Given the description of an element on the screen output the (x, y) to click on. 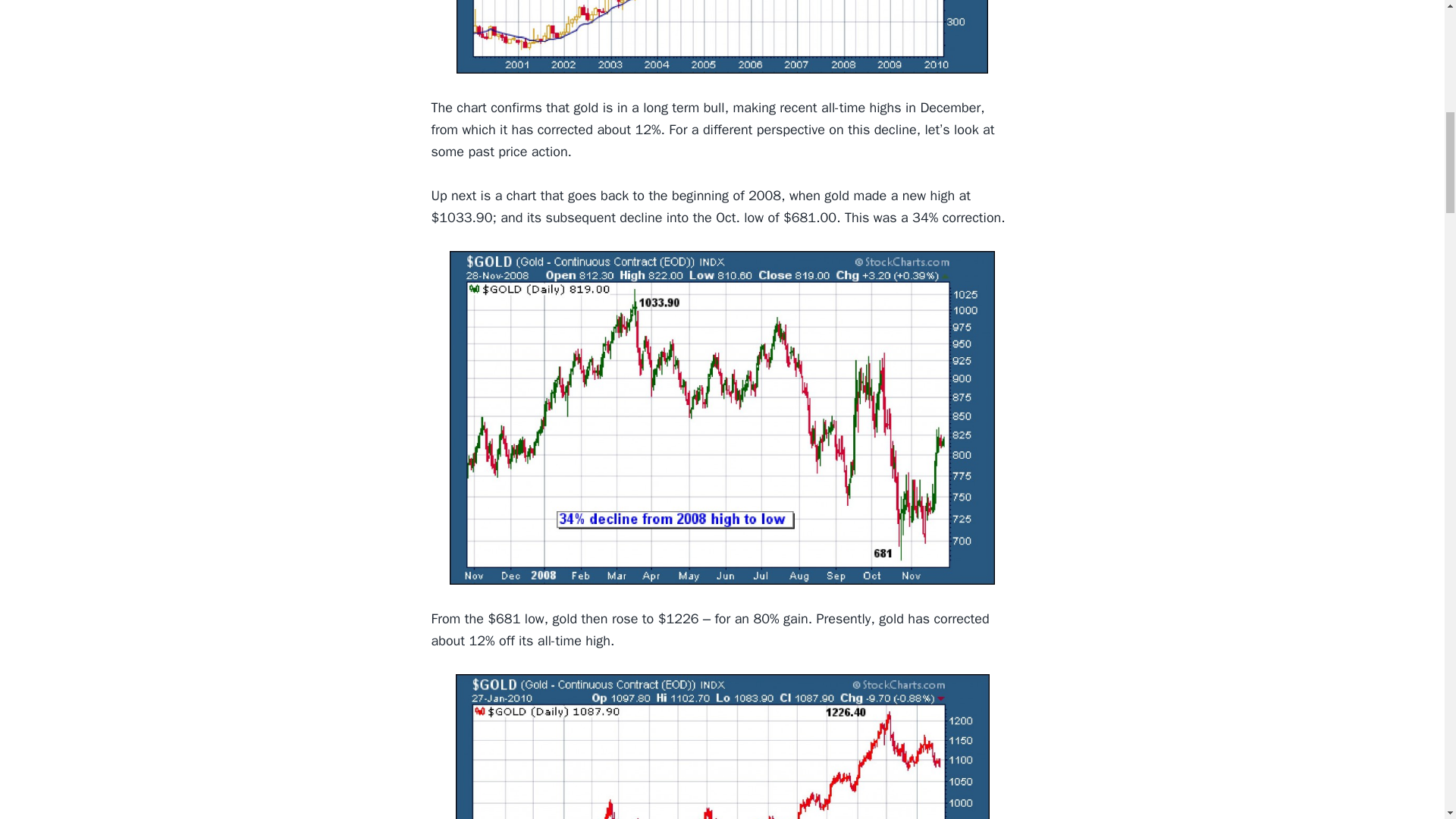
dg3 (721, 746)
dg1 (722, 36)
